Given the description of an element on the screen output the (x, y) to click on. 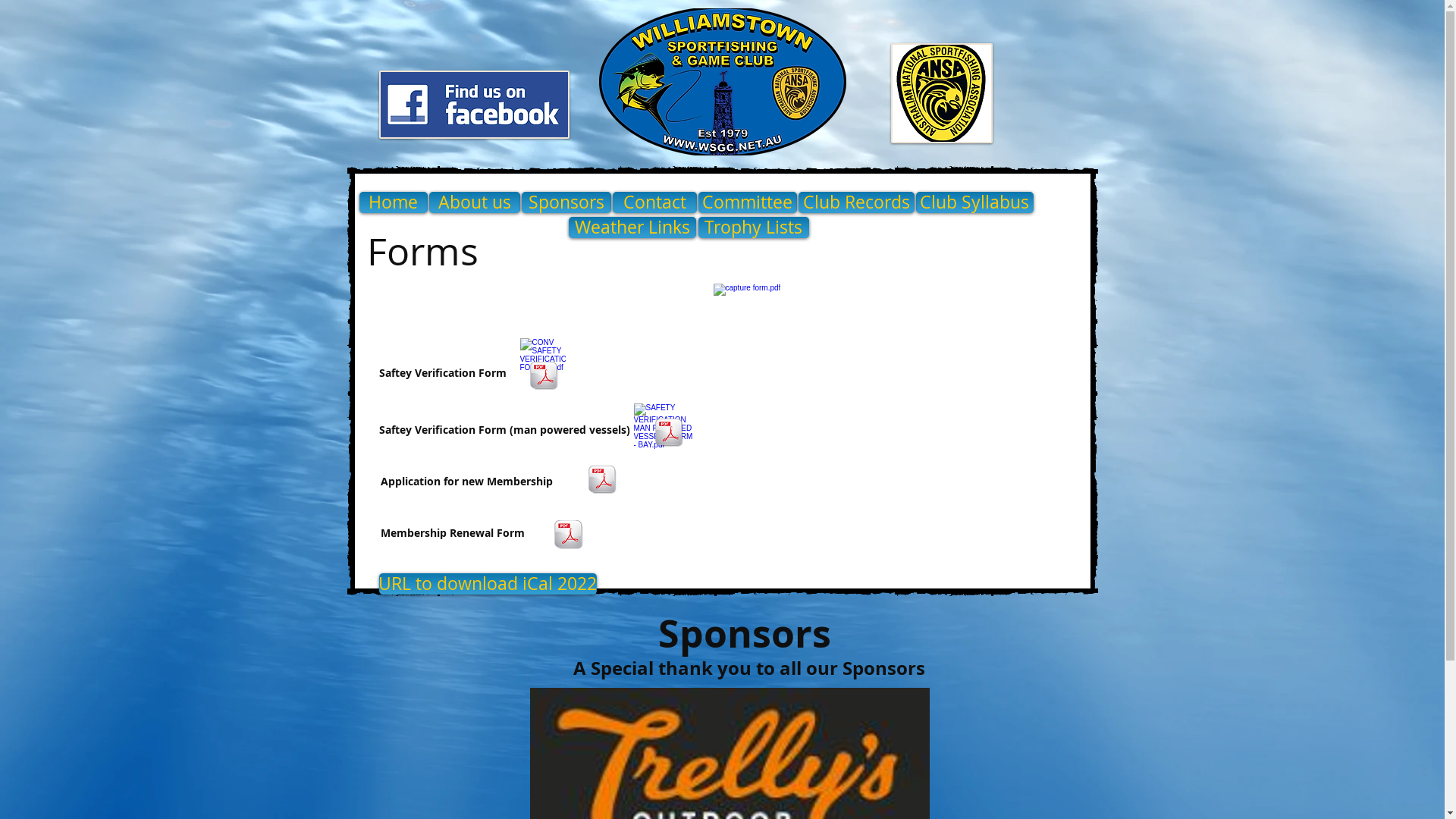
Club Syllabus Element type: text (974, 202)
Weather Links Element type: text (632, 227)
Contact Element type: text (654, 202)
safety verification form - man powered 2 Element type: hover (668, 433)
Trophy Lists Element type: text (752, 227)
Committee Element type: text (746, 202)
SAFETY VERIFICATION MAN POWERED VESSELS FORM - BAY.pdf Element type: hover (662, 427)
About us Element type: text (474, 202)
Application For Membership 2015-16.pdf Element type: hover (601, 480)
MEMBERSHIP RENEWAL FORM 2019-20.pdf Element type: hover (567, 535)
Sponsors Element type: text (566, 202)
Home Element type: text (393, 202)
Club Records Element type: text (855, 202)
safety verification form - motor powered Element type: hover (544, 377)
capture form.pdf Element type: hover (748, 305)
CONV SAFETY VERIFICATION FORM[1].pdf Element type: hover (541, 361)
URL to download iCal 2022 Element type: text (487, 583)
